Given the description of an element on the screen output the (x, y) to click on. 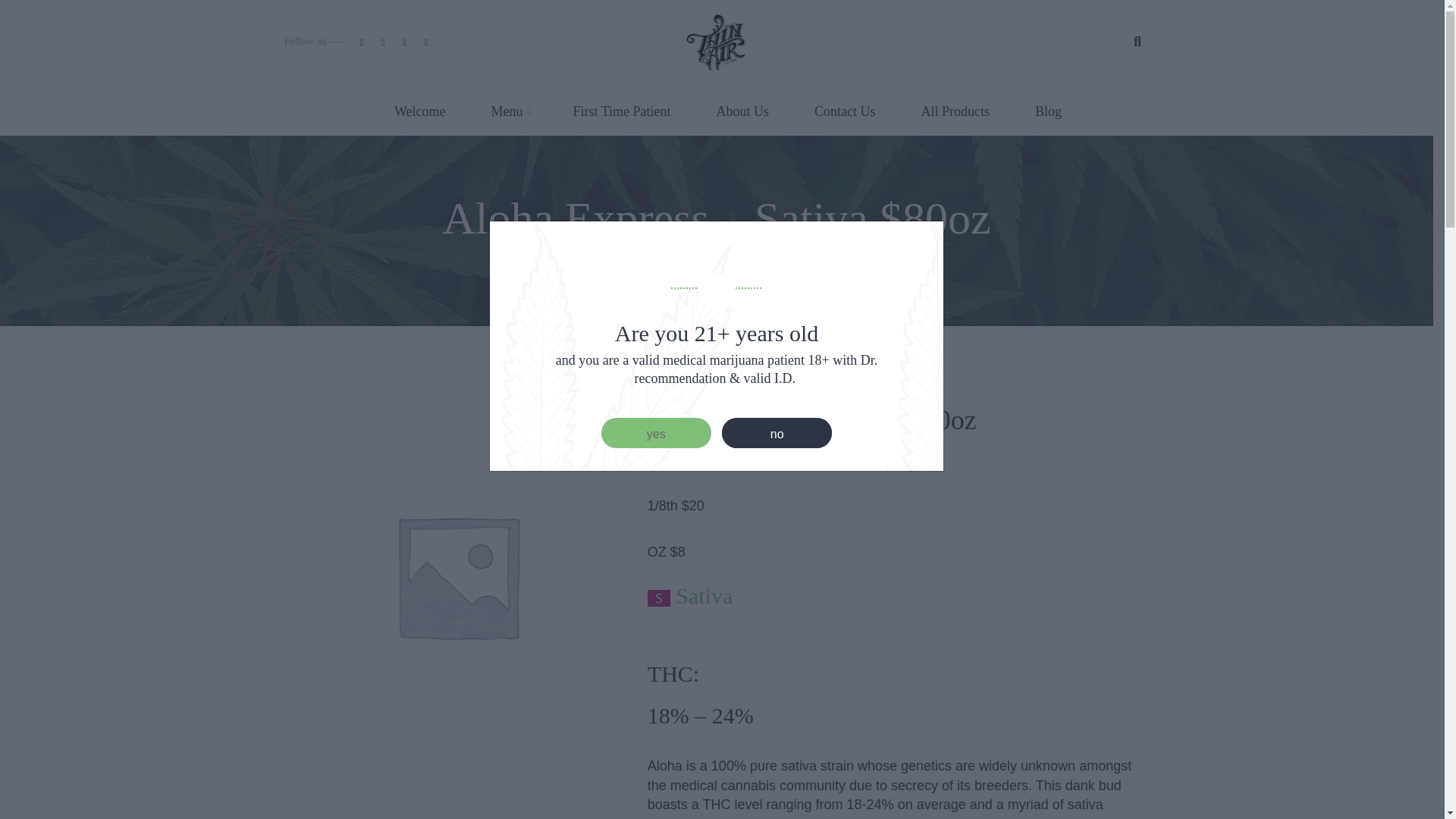
Blog (1036, 113)
Home (524, 258)
Go to the Flower Category archives. (658, 258)
Contact Us (845, 113)
Go to the Sativa Category archives. (718, 258)
Sativa (701, 595)
Products (590, 258)
Go to Home. (524, 258)
Menu (505, 113)
Flower (658, 258)
Sativa (718, 258)
Go to Products. (590, 258)
All Products (955, 113)
First Time Patient (621, 113)
Welcome (419, 113)
